Given the description of an element on the screen output the (x, y) to click on. 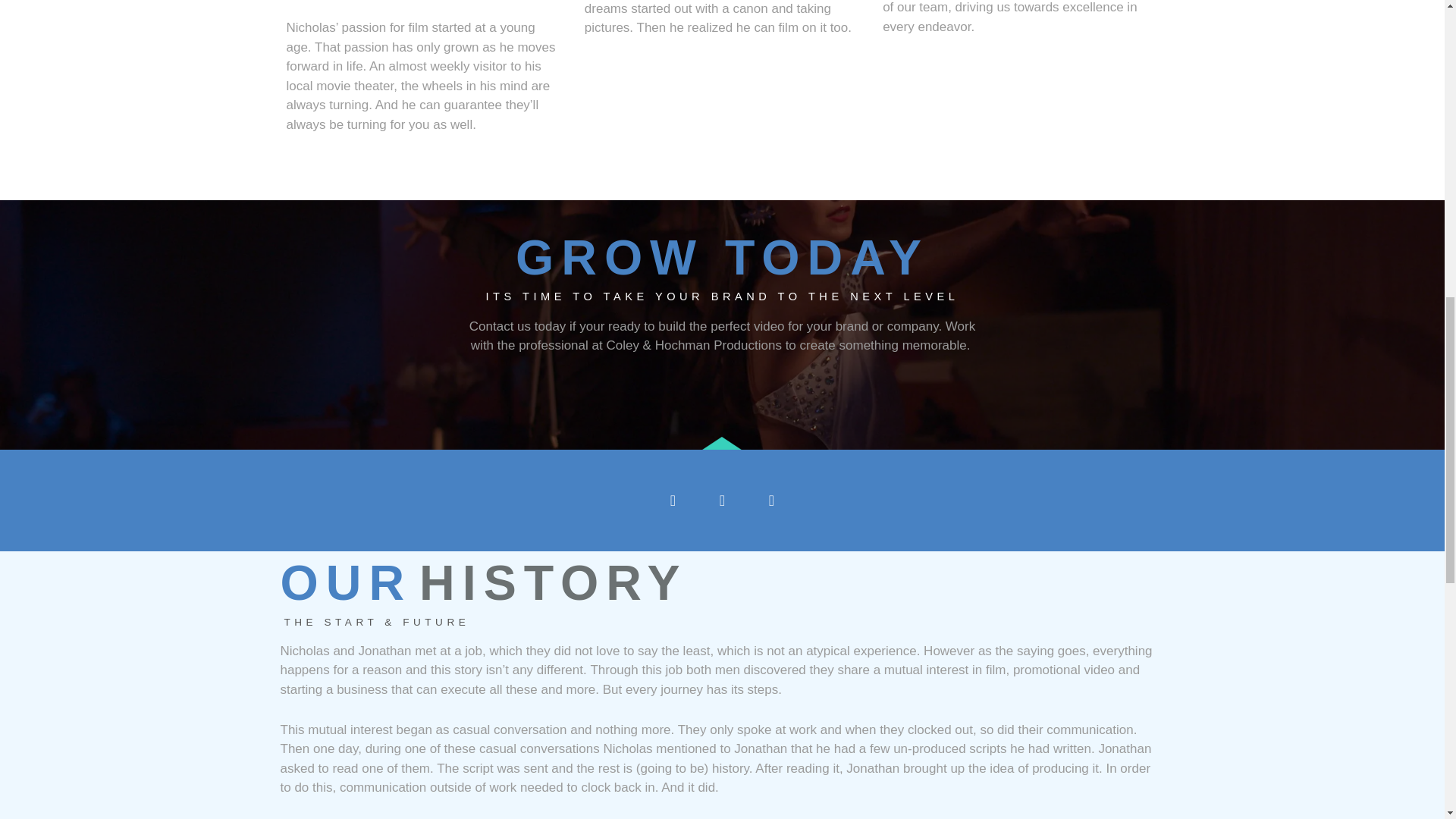
Instagram (721, 500)
Youtube (772, 500)
Facebook-f (673, 500)
